Given the description of an element on the screen output the (x, y) to click on. 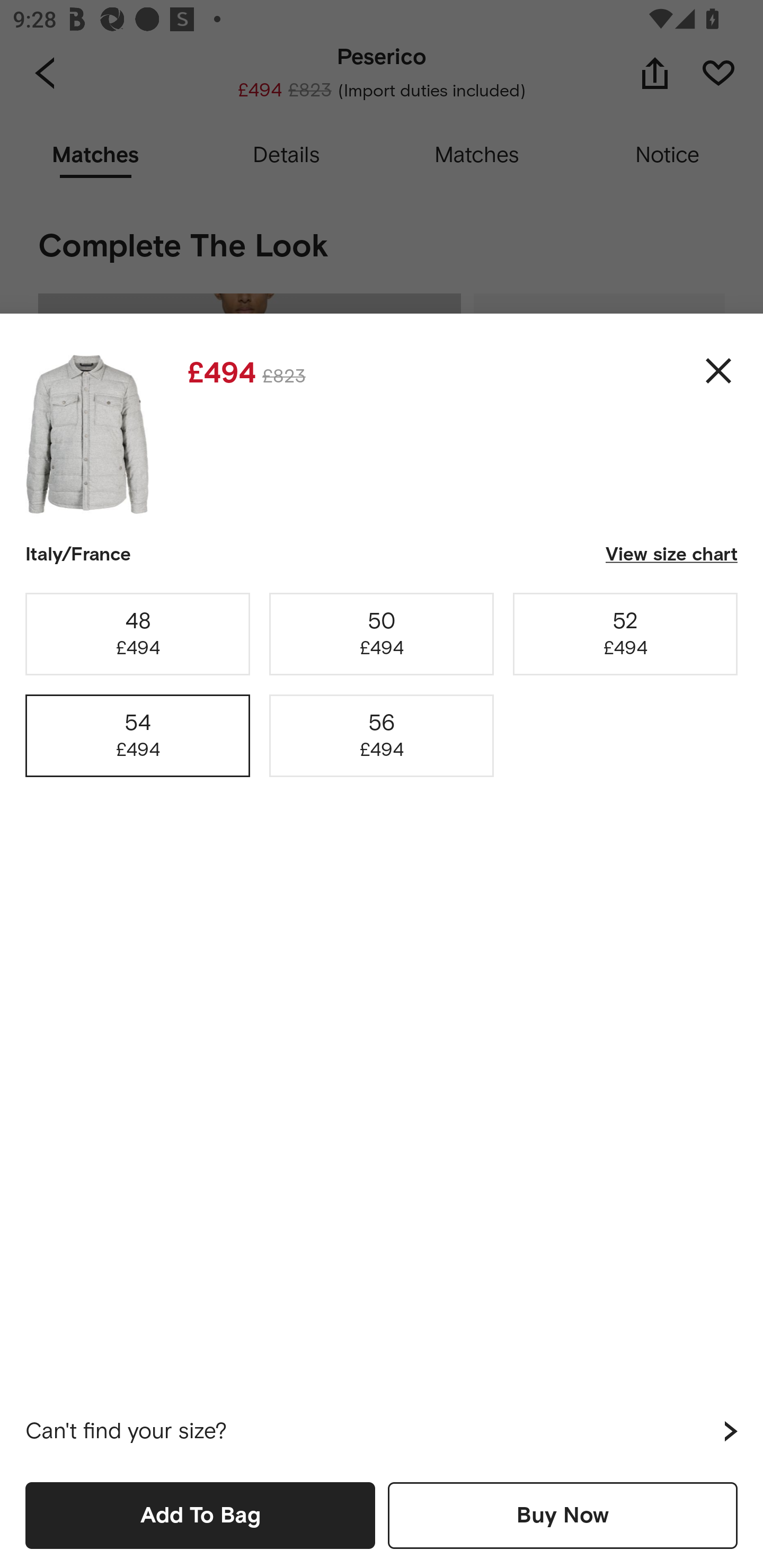
48 £494 (137, 633)
50 £494 (381, 633)
52 £494 (624, 633)
54 £494 (137, 735)
56 £494 (381, 735)
Can't find your size? (381, 1431)
Add To Bag (200, 1515)
Buy Now (562, 1515)
